Given the description of an element on the screen output the (x, y) to click on. 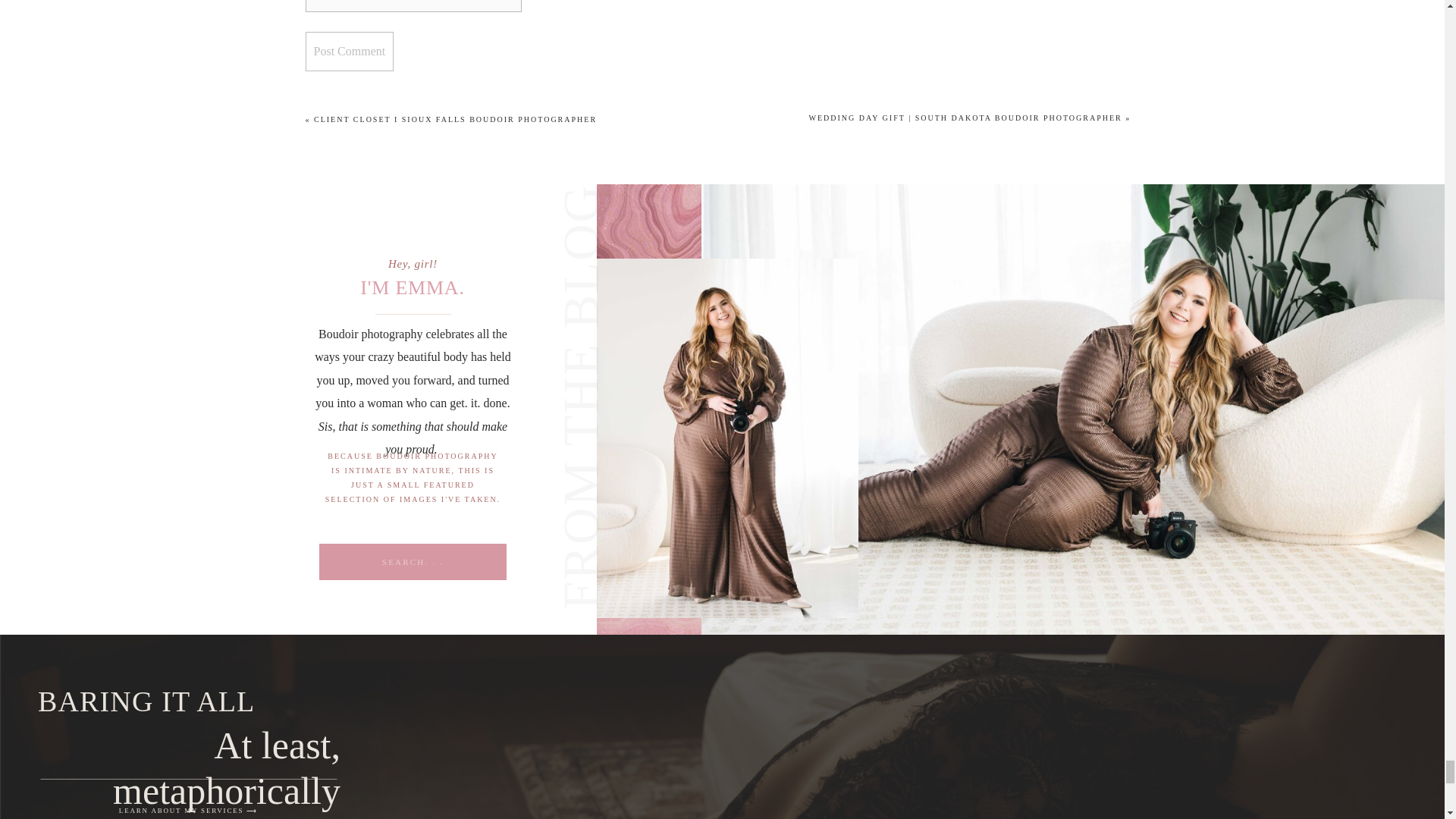
CLIENT CLOSET I SIOUX FALLS BOUDOIR PHOTOGRAPHER (455, 119)
Post Comment (348, 51)
Post Comment (348, 51)
